Given the description of an element on the screen output the (x, y) to click on. 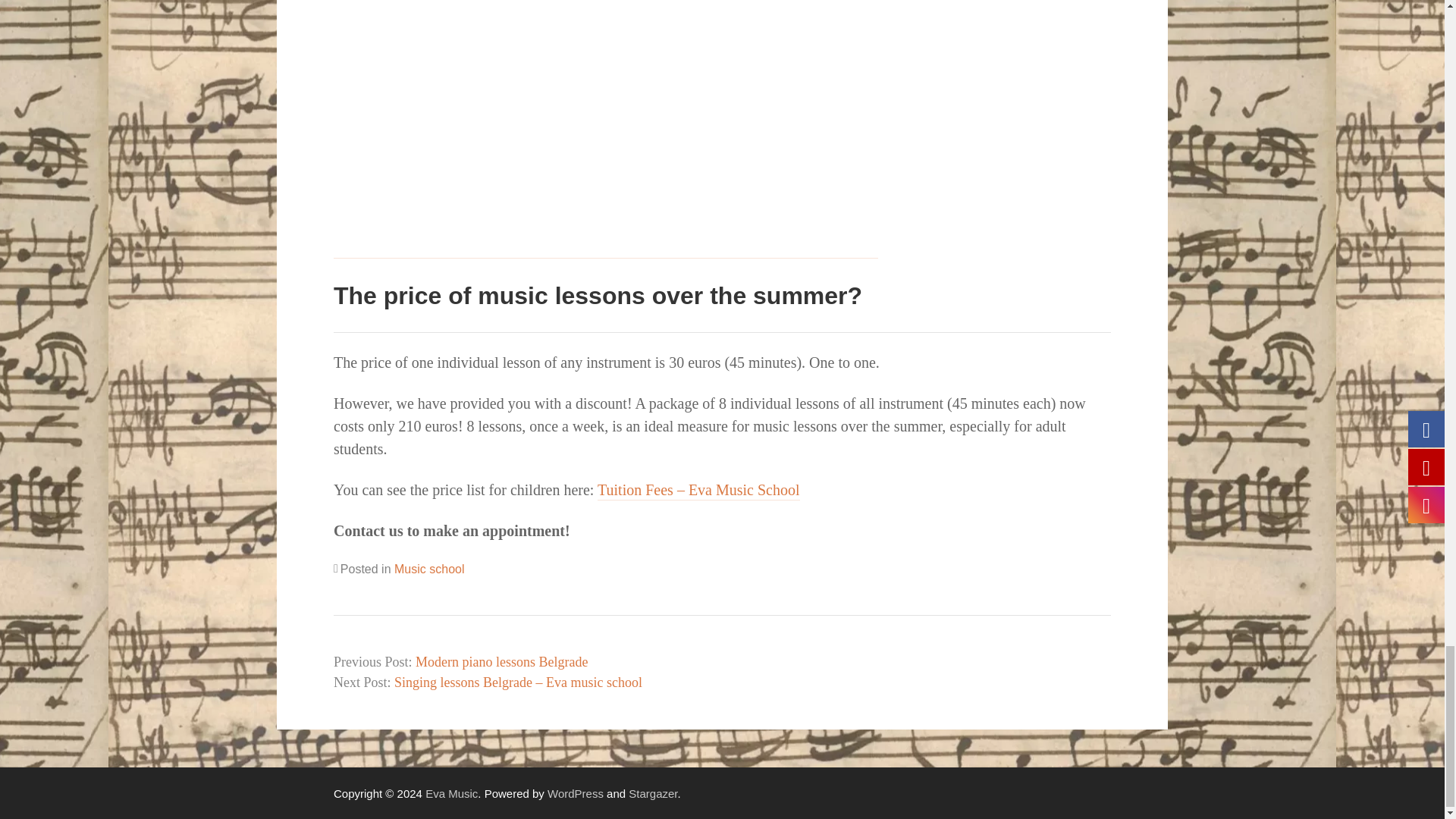
Music school (429, 568)
WordPress (575, 793)
Eva Music (451, 793)
Stargazer (652, 793)
Modern piano lessons Belgrade (501, 661)
